Given the description of an element on the screen output the (x, y) to click on. 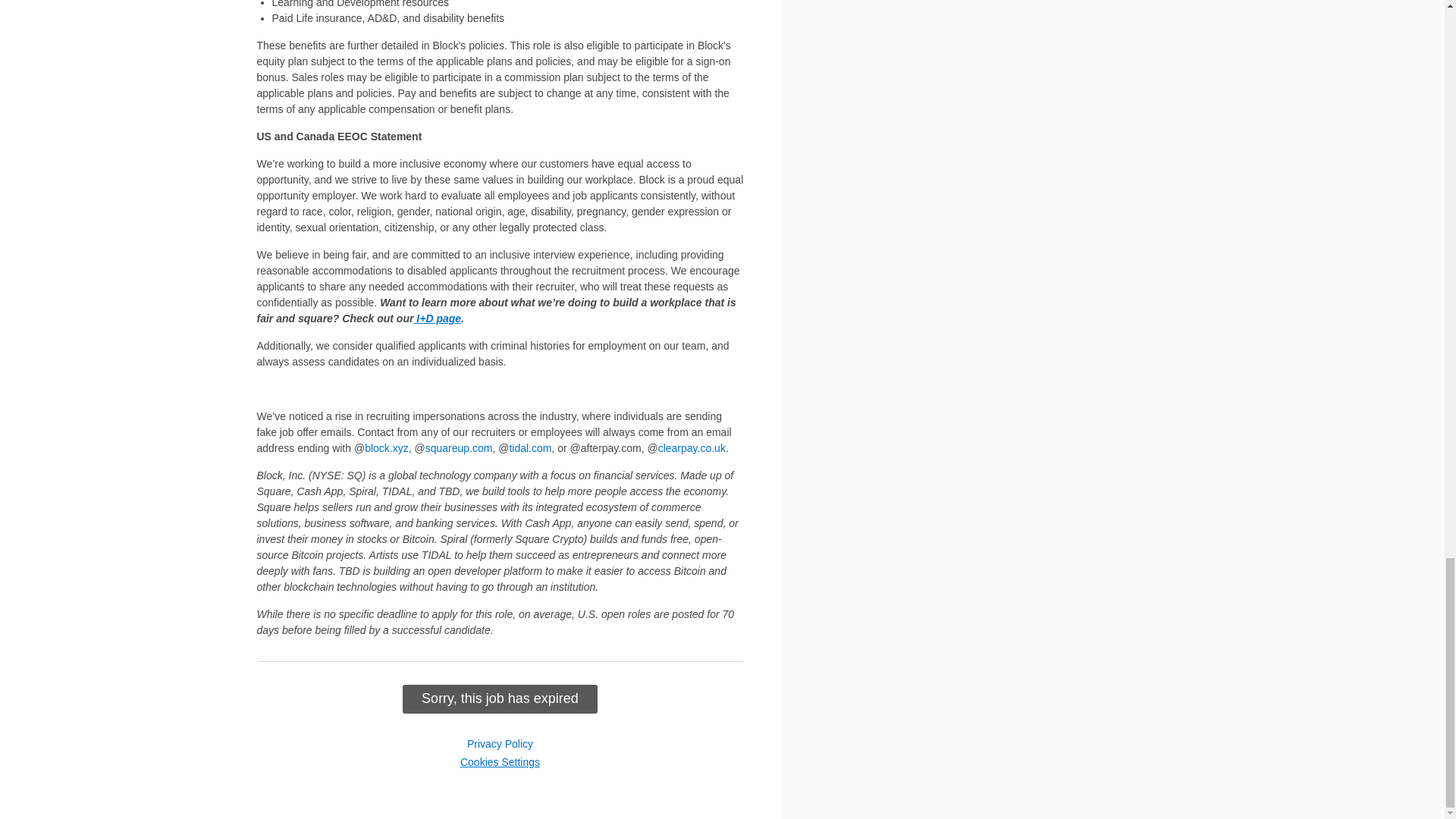
clearpay.co.uk (691, 448)
block.xyz (387, 448)
Cookies Settings (500, 761)
Sorry, this job has expired (499, 698)
tidal.com (529, 448)
squareup.com (459, 448)
Privacy Policy (499, 743)
